Given the description of an element on the screen output the (x, y) to click on. 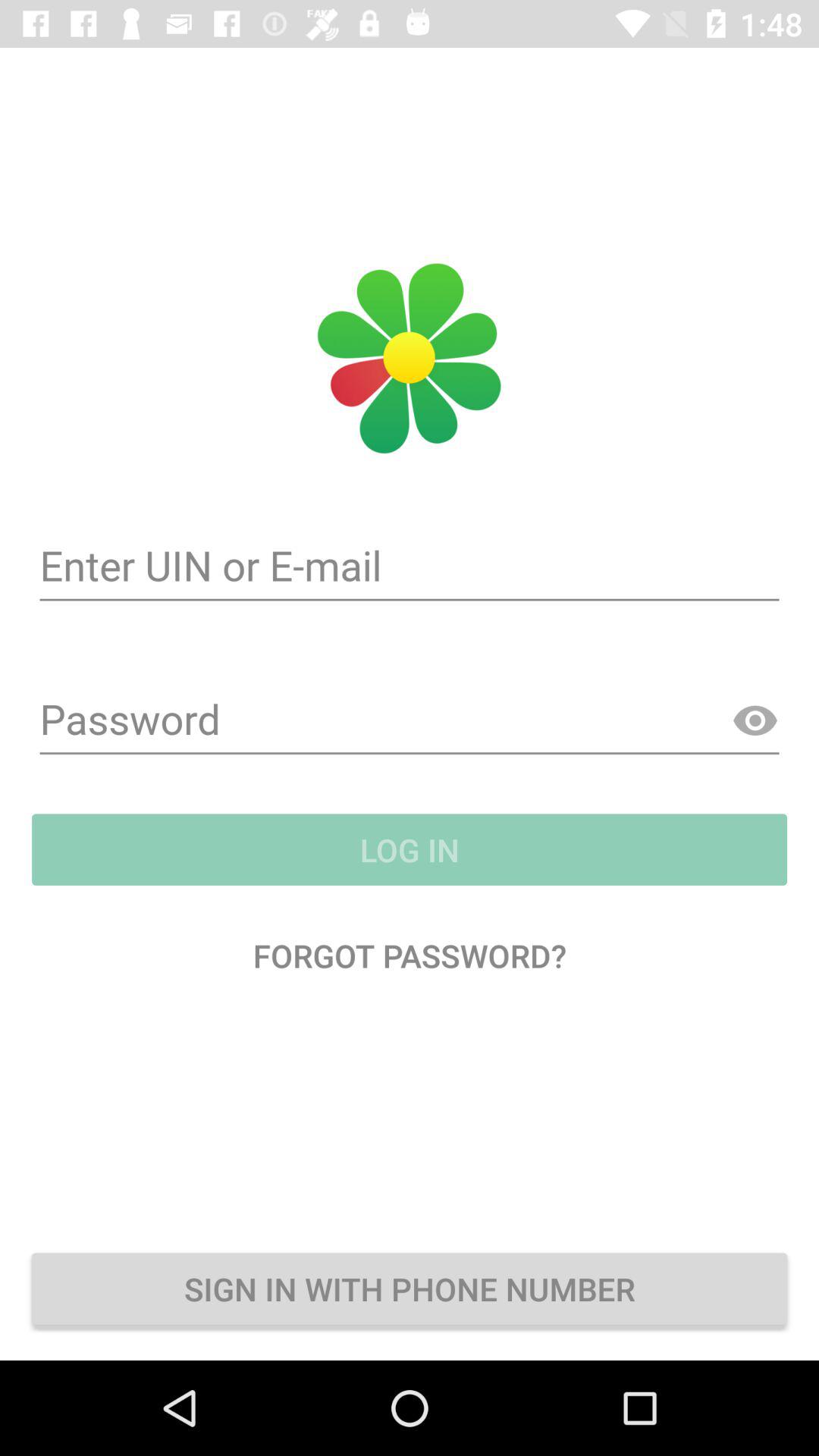
launch sign in with icon (409, 1288)
